Given the description of an element on the screen output the (x, y) to click on. 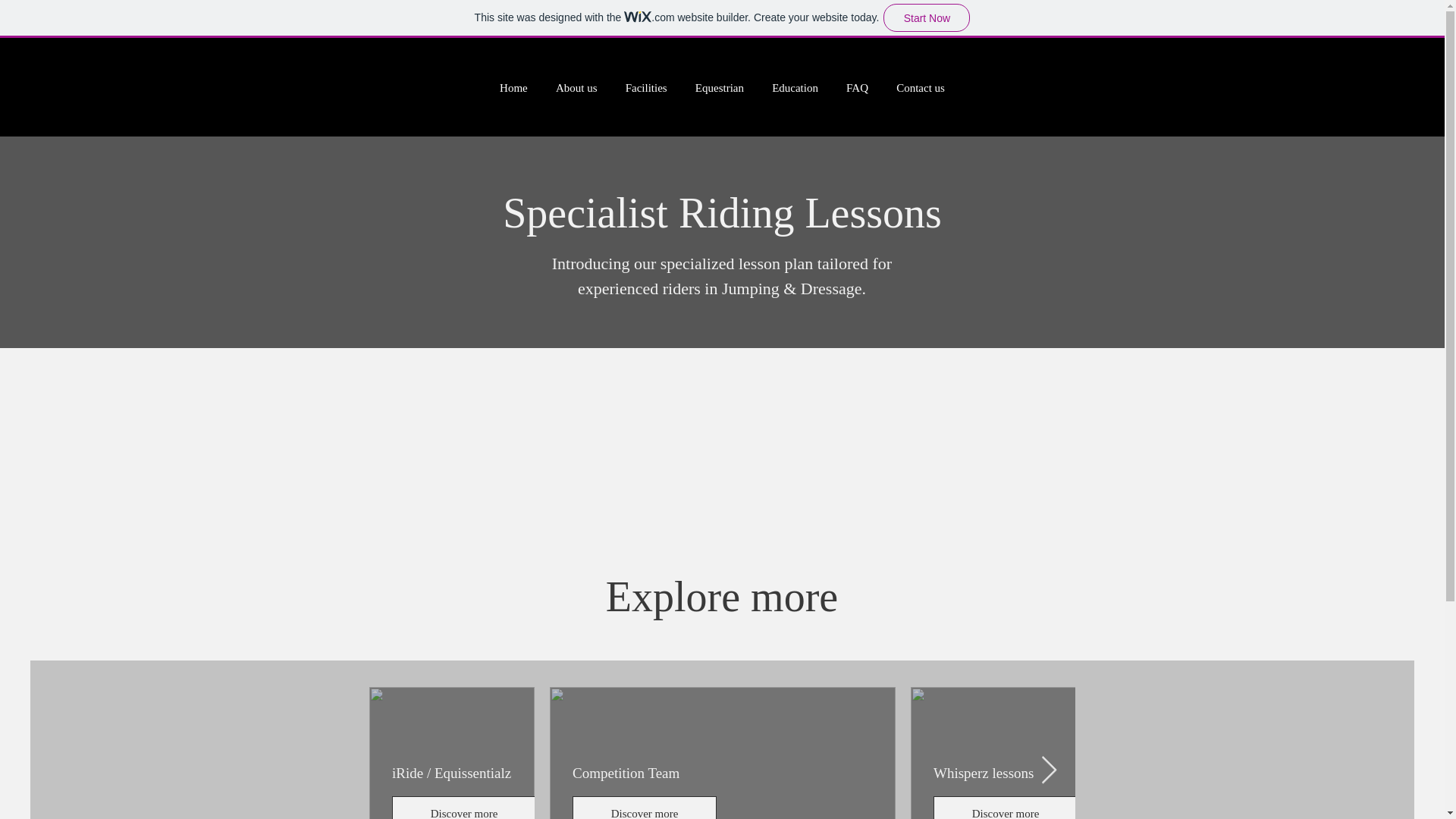
Discover more (463, 807)
Discover more (644, 807)
Discover more (1185, 807)
FAQ (857, 88)
Contact us (920, 88)
Home (512, 88)
Discover more (1005, 807)
